Given the description of an element on the screen output the (x, y) to click on. 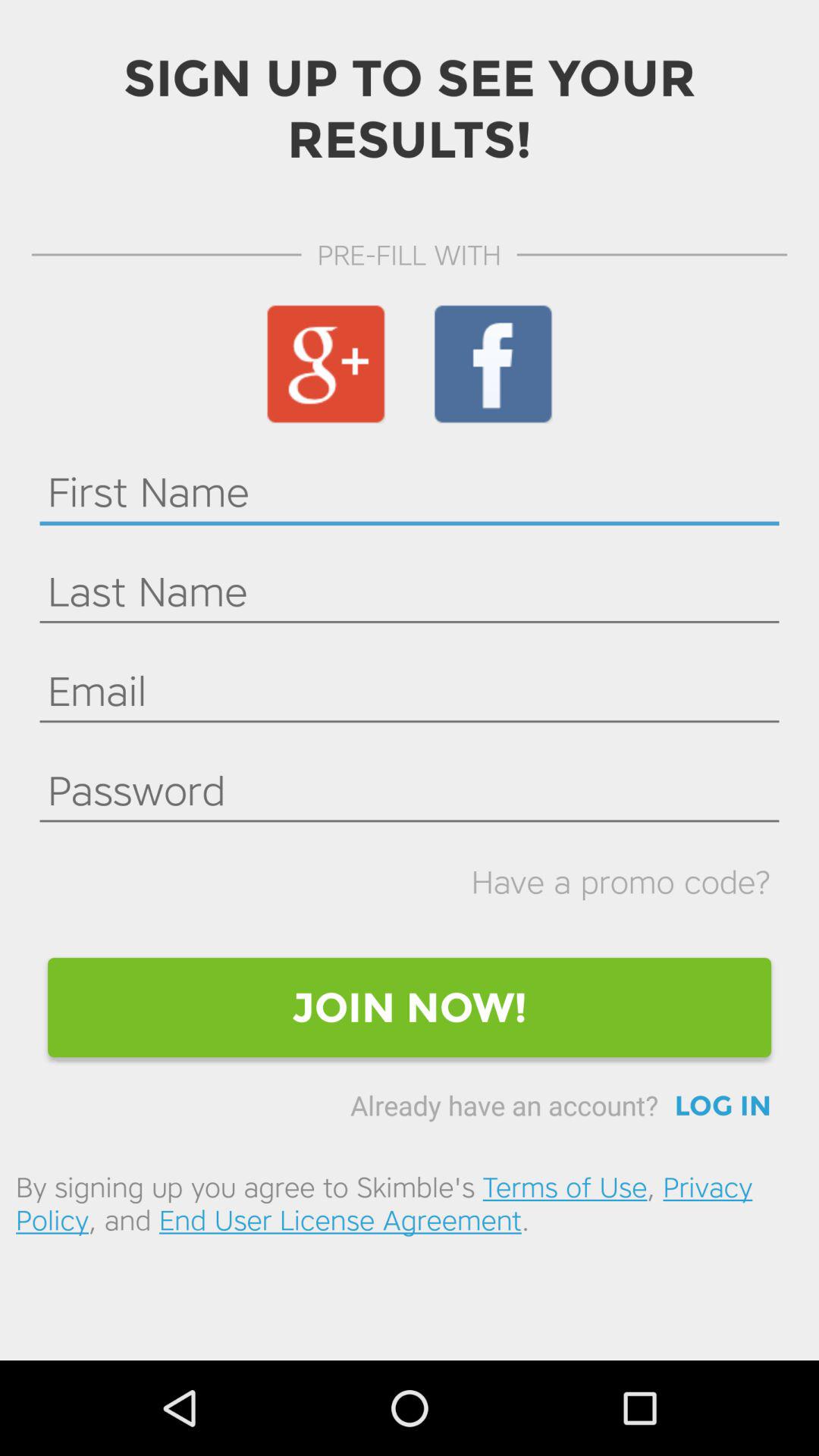
select icon next to already have an icon (722, 1105)
